Given the description of an element on the screen output the (x, y) to click on. 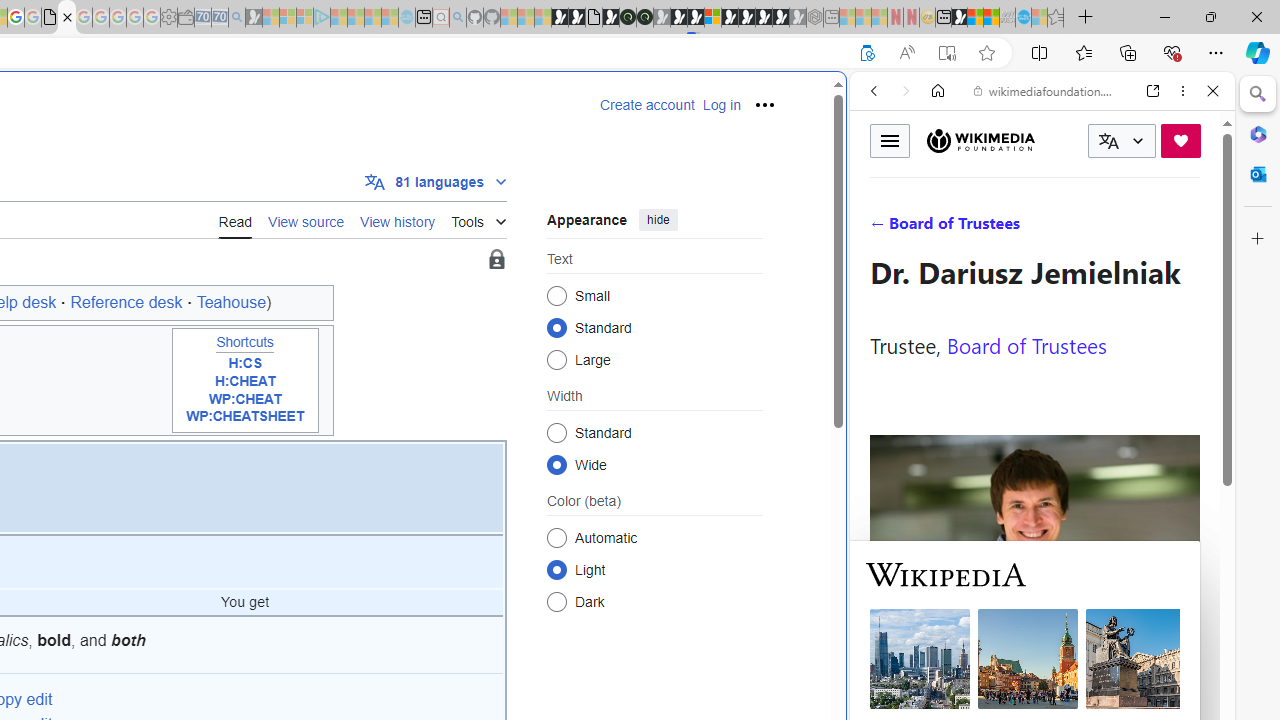
github - Search - Sleeping (457, 17)
Future Focus Report 2024 (644, 17)
Board of Trustees (1026, 344)
Search Filter, Search Tools (1093, 228)
Light (556, 569)
google_privacy_policy_zh-CN.pdf (49, 17)
Play Zoo Boom in your browser | Games from Microsoft Start (576, 17)
